Given the description of an element on the screen output the (x, y) to click on. 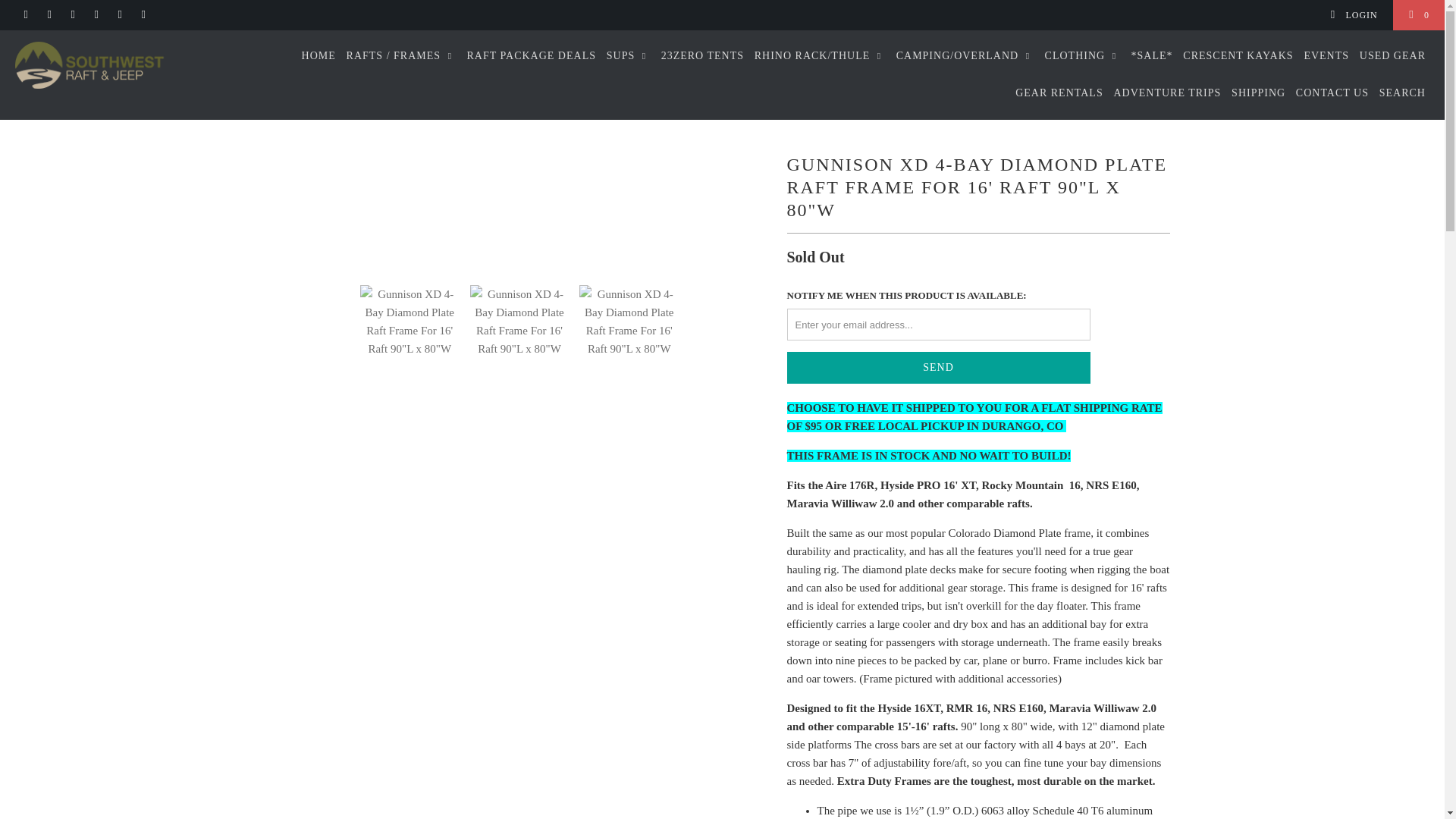
Southwest Raft and Jeep on Twitter (25, 14)
Southwest Raft and Jeep (122, 64)
Southwest Raft and Jeep on Facebook (48, 14)
Southwest Raft and Jeep on Pinterest (94, 14)
Southwest Raft and Jeep on YouTube (71, 14)
Email Southwest Raft and Jeep (142, 14)
Southwest Raft and Jeep on Instagram (119, 14)
Send (938, 368)
My Account  (1352, 15)
